Given the description of an element on the screen output the (x, y) to click on. 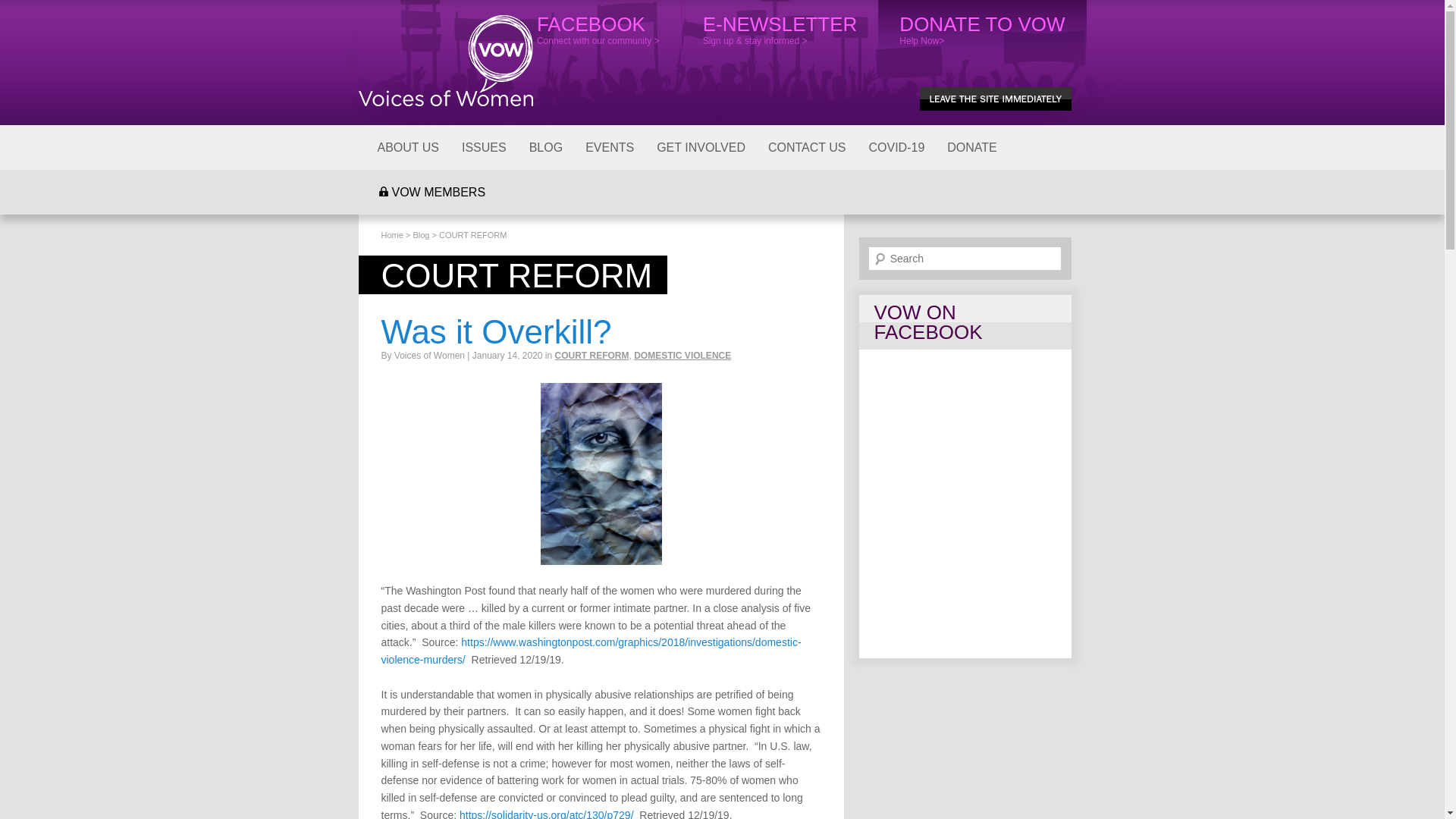
DONATE (971, 147)
Skip to secondary content (93, 144)
Voices of Women Organizing Project (445, 60)
Go to Voices of Women Organizing Project. (391, 234)
CONTACT US (807, 147)
SKIP TO SECONDARY CONTENT (93, 144)
Go to Blog. (420, 234)
COVID-19 (896, 147)
VOW MEMBERS (430, 191)
SKIP TO PRIMARY CONTENT (84, 144)
Voices of Women Organizing Project (445, 60)
Was it Overkill? (495, 331)
DOMESTIC VIOLENCE (681, 355)
BLOG (545, 147)
Permalink to Was it Overkill? (495, 331)
